Given the description of an element on the screen output the (x, y) to click on. 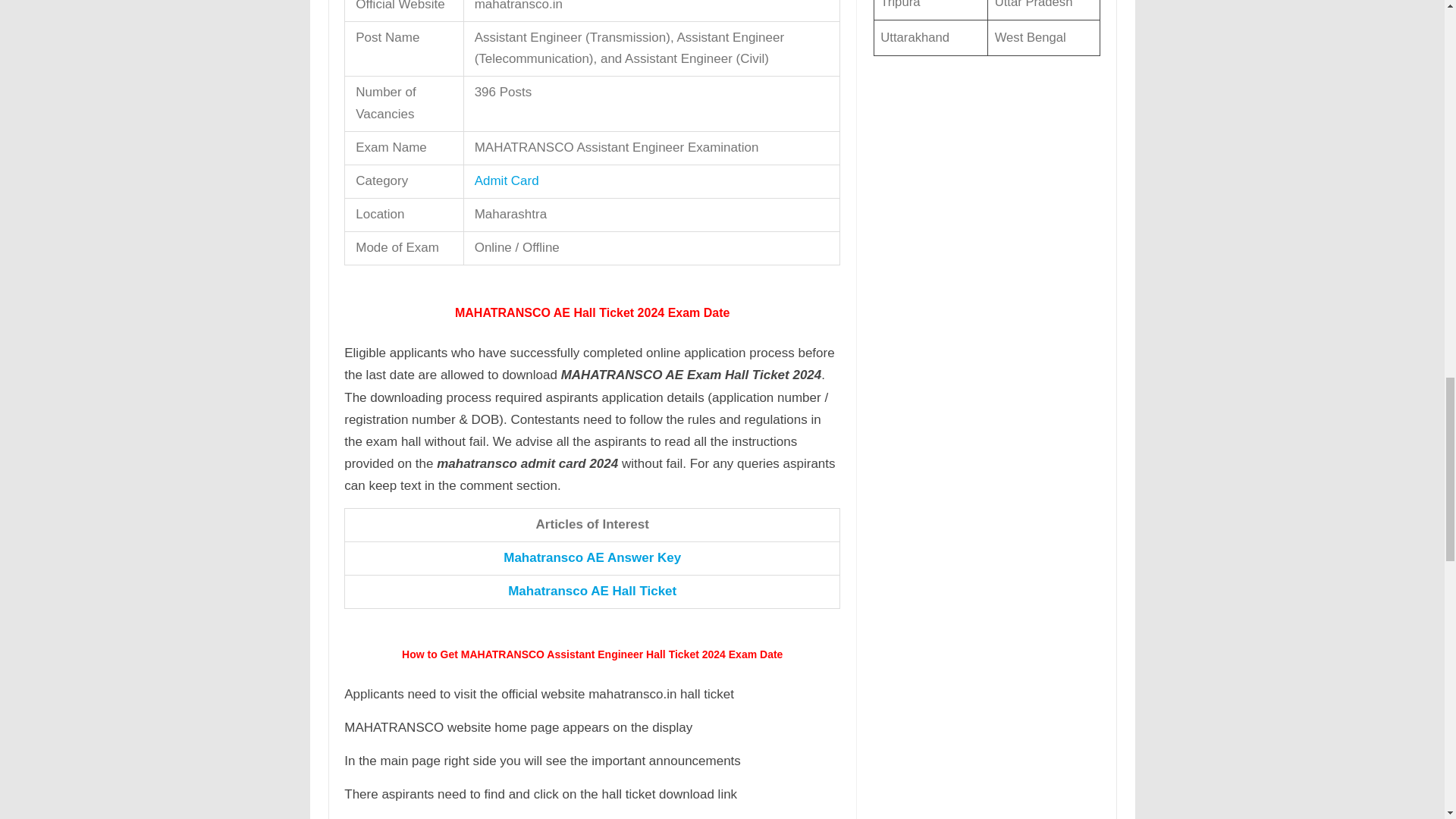
Mahatransco AE Answer Key (592, 557)
Admit Card (506, 180)
Mahatransco AE Hall Ticket (592, 590)
